Given the description of an element on the screen output the (x, y) to click on. 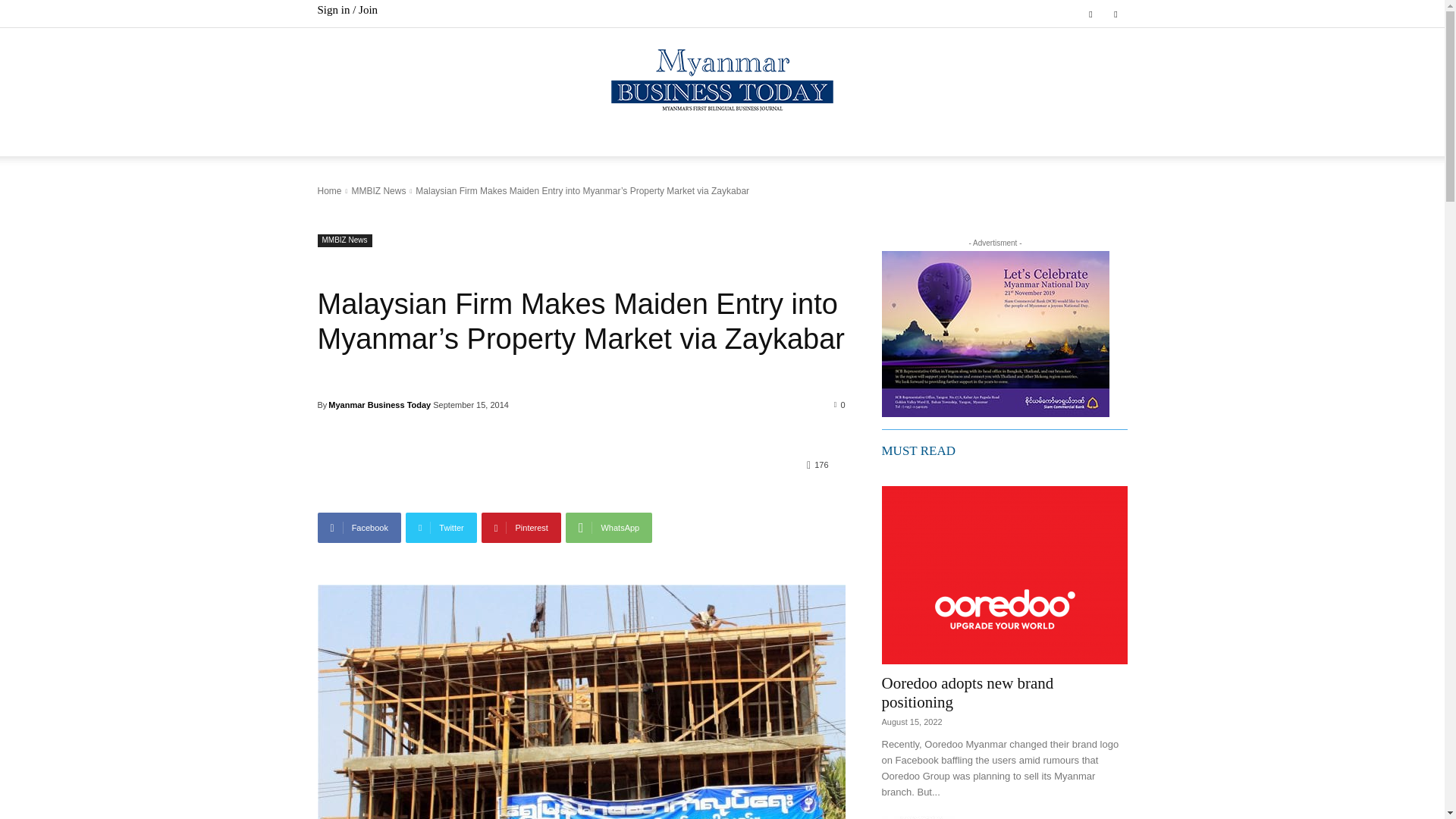
Business (453, 141)
